Given the description of an element on the screen output the (x, y) to click on. 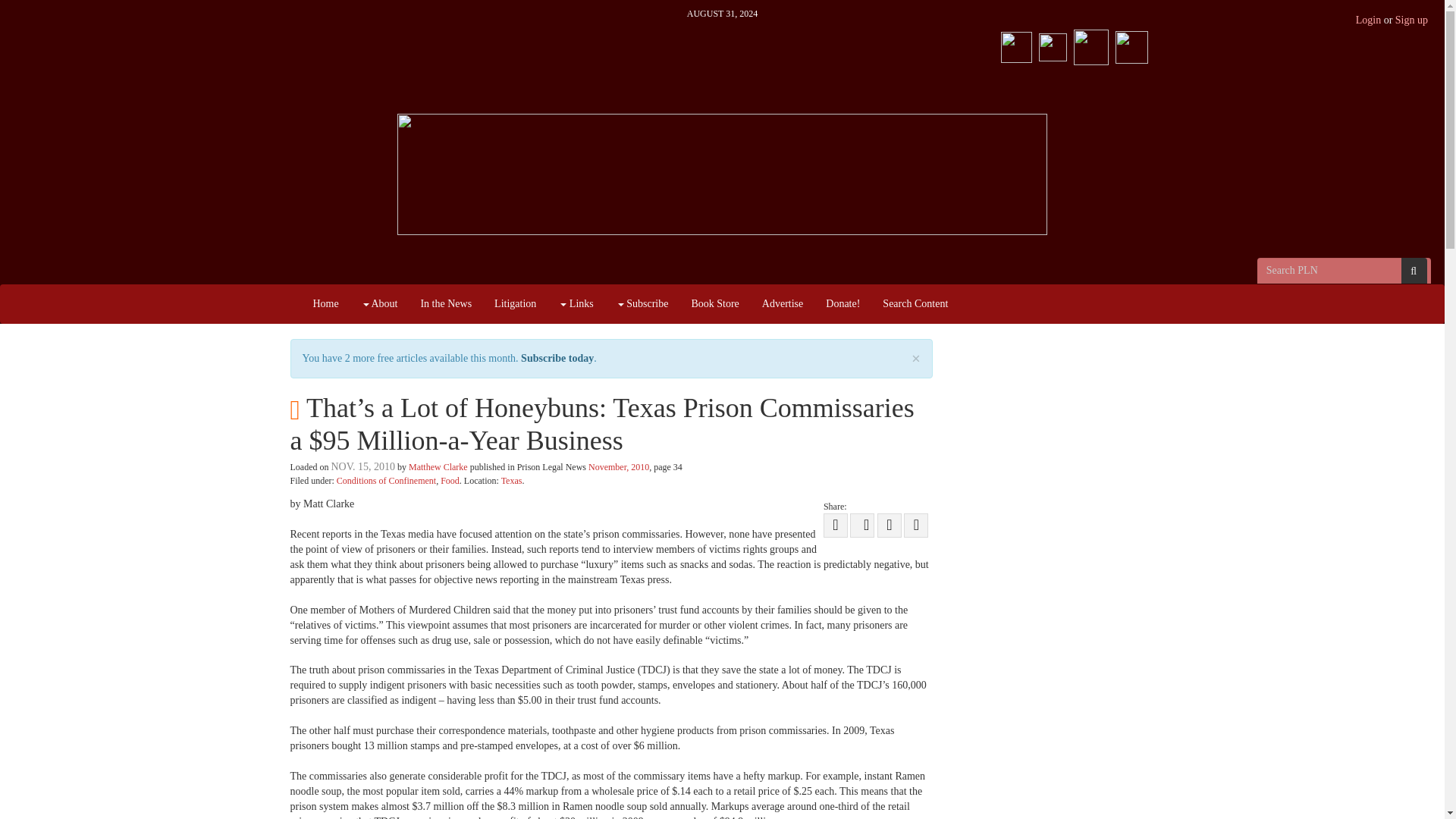
Donate! (841, 303)
Litigation (515, 303)
Search (1413, 270)
In the News (446, 303)
Advertise (782, 303)
Share on Twitter (835, 525)
Home (325, 303)
Share with email (916, 525)
Subscribe (642, 303)
Paul Wright's LinkedIn Page (1131, 44)
